Given the description of an element on the screen output the (x, y) to click on. 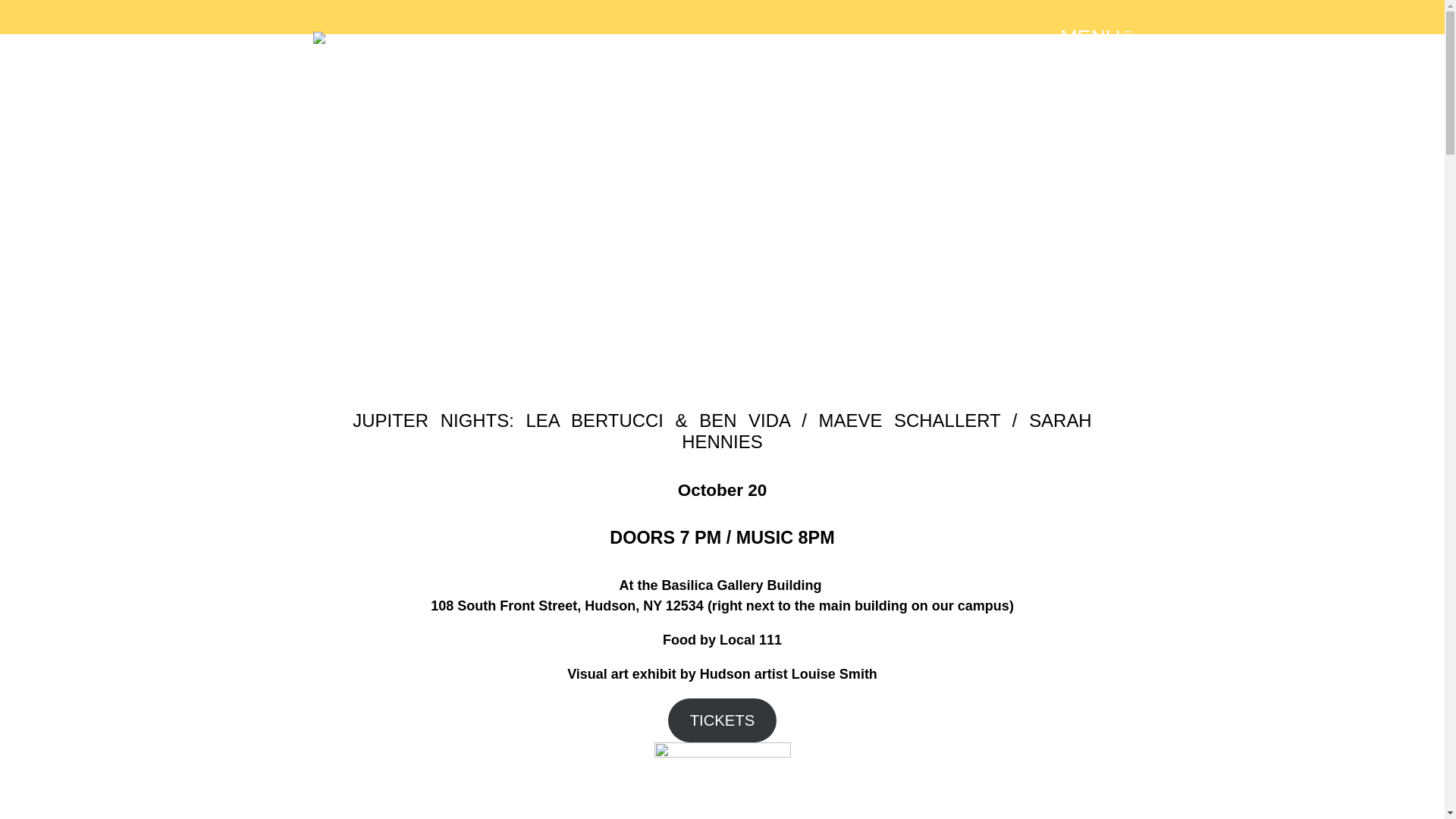
TICKETS (722, 720)
Subscribe to our Newsletter (692, 428)
